Given the description of an element on the screen output the (x, y) to click on. 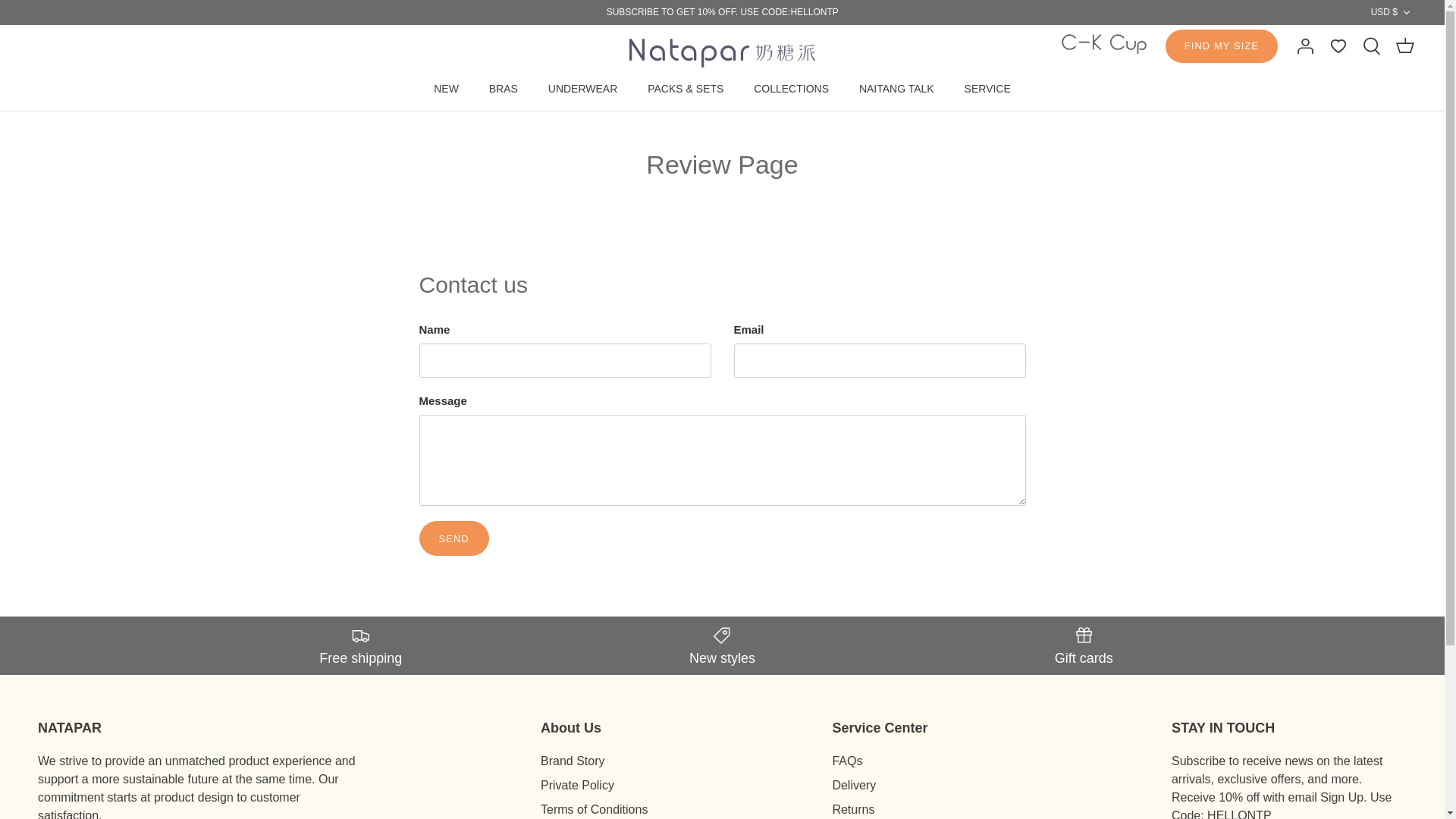
Down (1406, 12)
Natapar-Global (721, 52)
Send (453, 538)
